Given the description of an element on the screen output the (x, y) to click on. 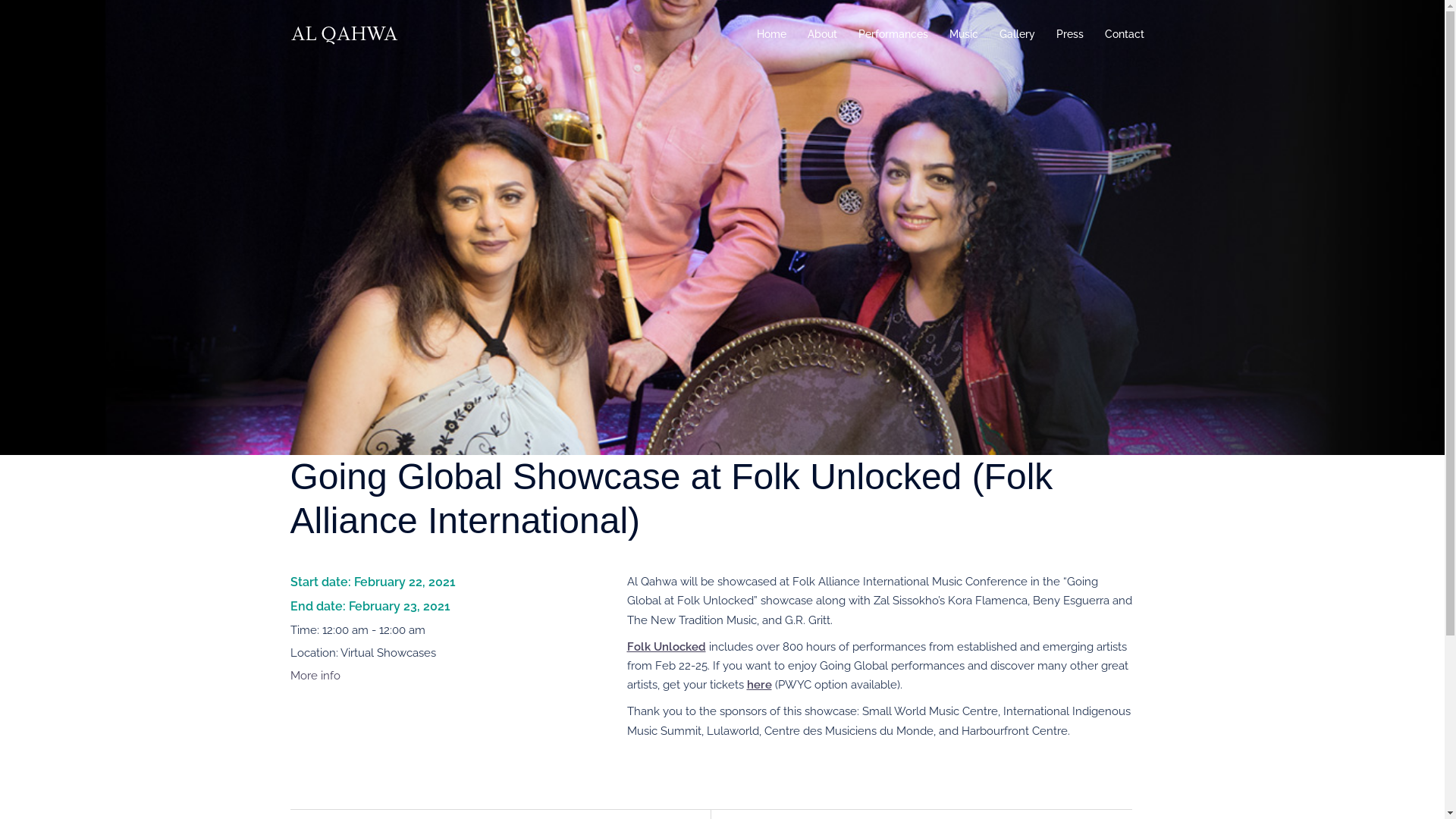
Home Element type: text (771, 34)
Contact Element type: text (1123, 34)
About Element type: text (821, 34)
Press Element type: text (1068, 34)
Gallery Element type: text (1017, 34)
More info Element type: text (314, 675)
Folk Unlocked Element type: text (665, 646)
Performances Element type: text (893, 34)
Music Element type: text (963, 34)
here Element type: text (758, 684)
